Given the description of an element on the screen output the (x, y) to click on. 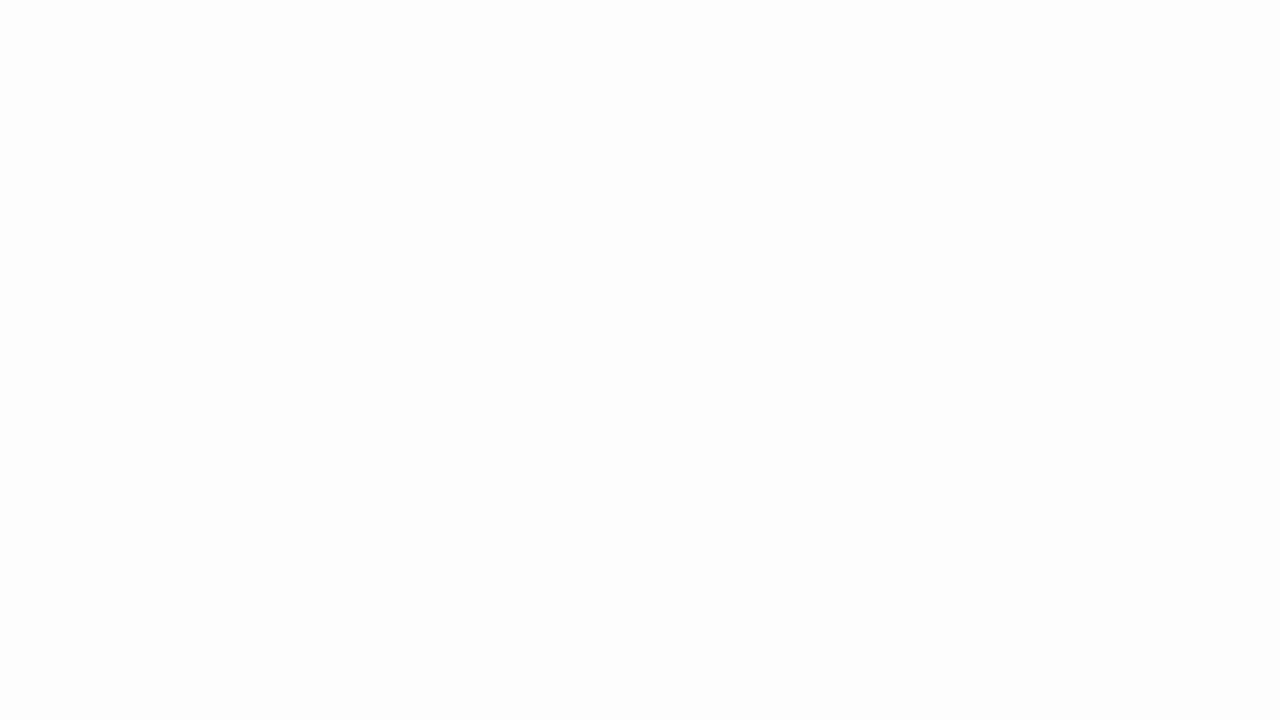
Row Down (280, 100)
Linked Cell (113, 114)
Restore Down (1210, 16)
Cell Styles (280, 120)
Calculation (218, 86)
Sum (489, 78)
Note (218, 114)
Row up (280, 79)
Delete Cells... (369, 84)
